Given the description of an element on the screen output the (x, y) to click on. 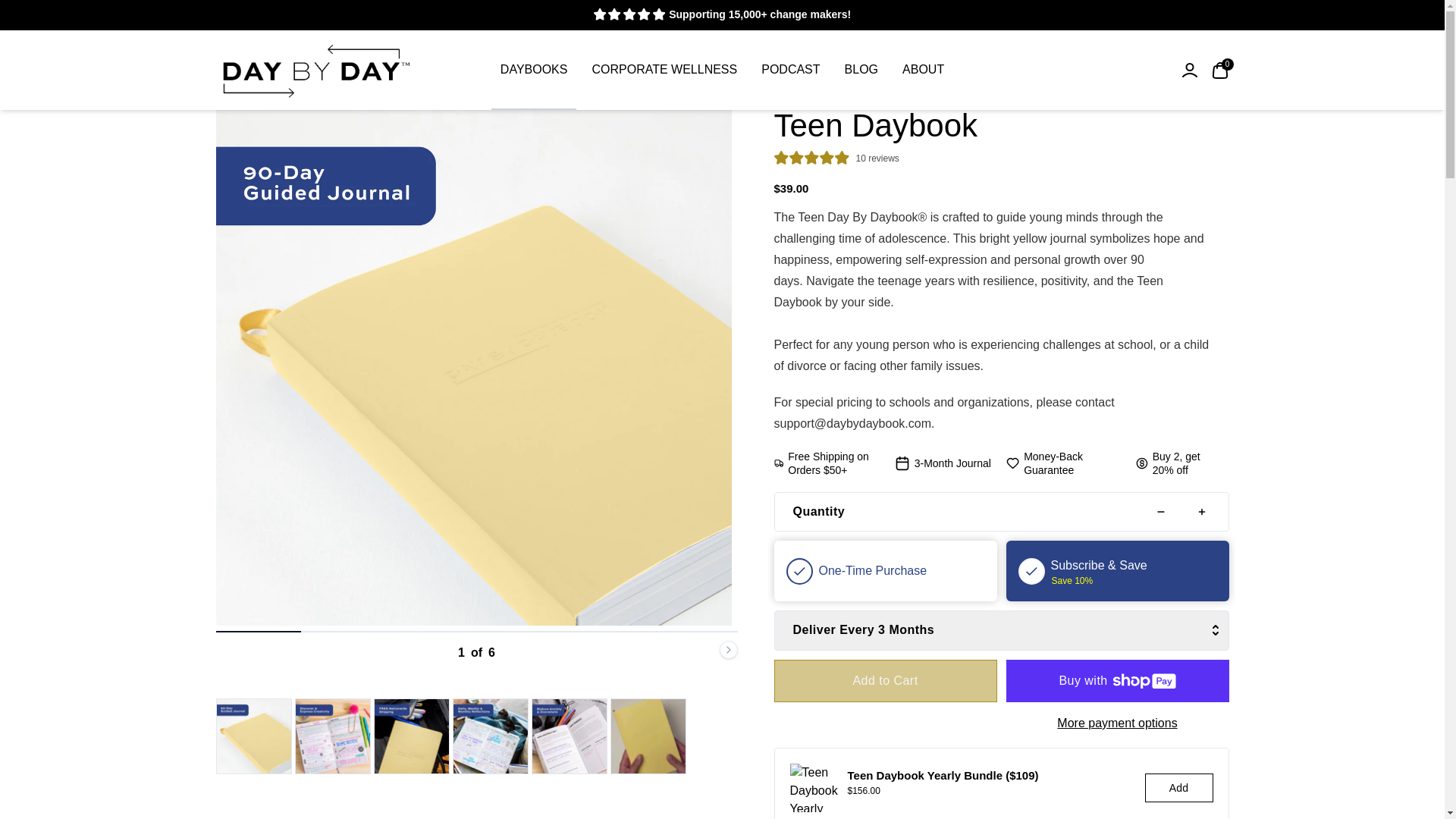
Login (1188, 69)
PODCAST (790, 69)
BLOG (722, 69)
CORPORATE WELLNESS (860, 69)
DAYBOOKS (663, 69)
